Given the description of an element on the screen output the (x, y) to click on. 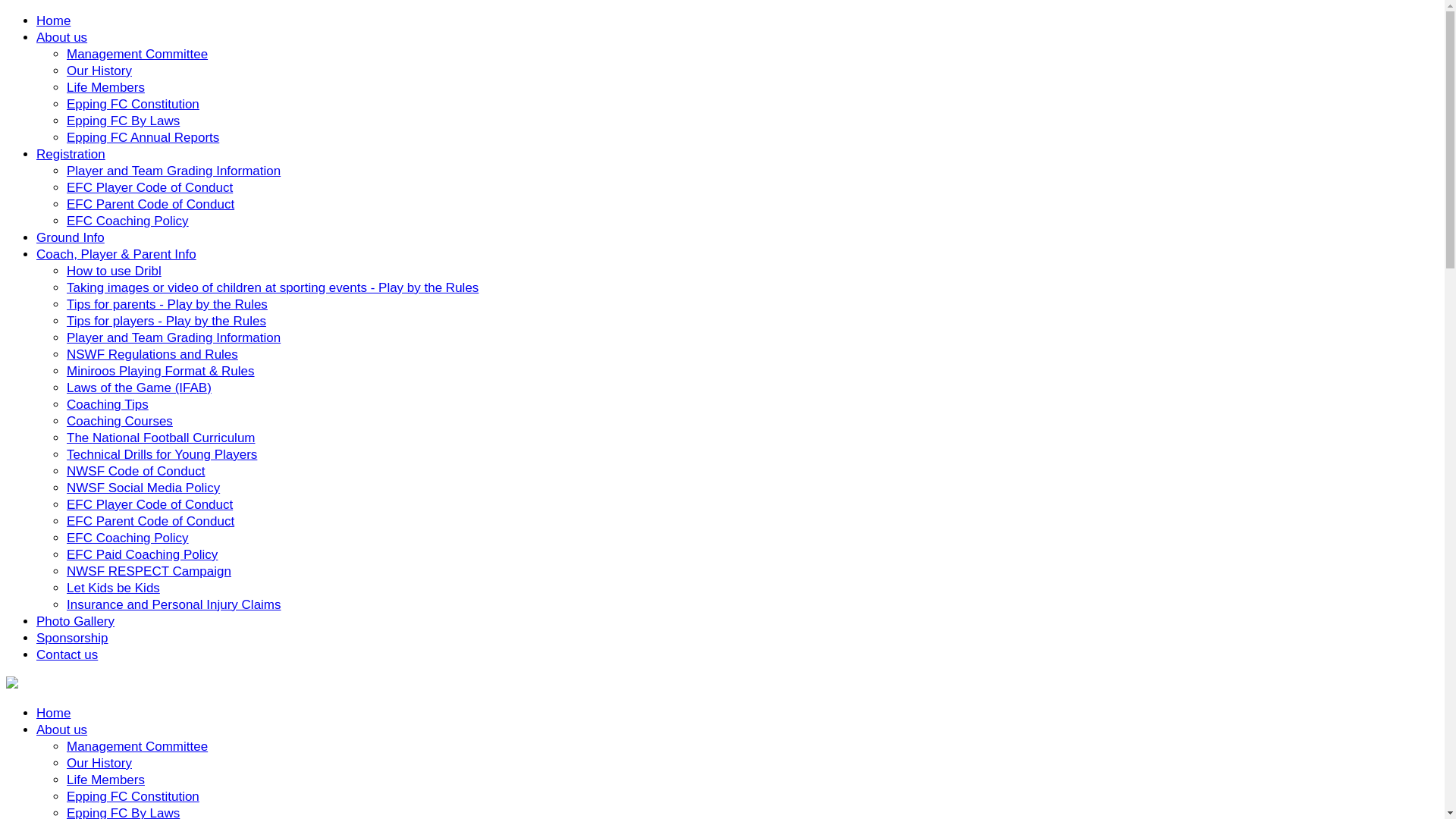
EFC Paid Coaching Policy Element type: text (141, 554)
Ground Info Element type: text (70, 237)
Let Kids be Kids Element type: text (113, 587)
Epping FC Constitution Element type: text (132, 104)
Laws of the Game (IFAB) Element type: text (138, 387)
About us Element type: text (61, 37)
EFC Parent Code of Conduct Element type: text (150, 204)
Miniroos Playing Format & Rules Element type: text (160, 371)
Coach, Player & Parent Info Element type: text (116, 254)
Coaching Tips Element type: text (107, 404)
Life Members Element type: text (105, 87)
EFC Coaching Policy Element type: text (127, 220)
Our History Element type: text (98, 763)
Epping FC Constitution Element type: text (132, 796)
Technical Drills for Young Players Element type: text (161, 454)
The National Football Curriculum Element type: text (160, 437)
EFC Parent Code of Conduct Element type: text (150, 521)
Epping FC By Laws Element type: text (122, 120)
Photo Gallery Element type: text (75, 621)
EFC Player Code of Conduct Element type: text (149, 187)
EFC Player Code of Conduct Element type: text (149, 504)
About us Element type: text (61, 729)
NWSF RESPECT Campaign Element type: text (148, 571)
Epping FC Annual Reports Element type: text (142, 137)
Sponsorship Element type: text (72, 637)
Player and Team Grading Information Element type: text (173, 170)
Contact us Element type: text (66, 654)
Home Element type: text (53, 713)
Coaching Courses Element type: text (119, 421)
EFC Coaching Policy Element type: text (127, 537)
Tips for parents - Play by the Rules Element type: text (166, 304)
Home Element type: text (53, 20)
Tips for players - Play by the Rules Element type: text (166, 320)
Player and Team Grading Information Element type: text (173, 337)
Insurance and Personal Injury Claims Element type: text (173, 604)
Management Committee Element type: text (136, 746)
NWSF Code of Conduct Element type: text (135, 471)
Life Members Element type: text (105, 779)
Management Committee Element type: text (136, 54)
Registration Element type: text (70, 154)
How to use Dribl Element type: text (113, 270)
NWSF Social Media Policy Element type: text (142, 487)
NSWF Regulations and Rules Element type: text (152, 354)
Our History Element type: text (98, 70)
